Given the description of an element on the screen output the (x, y) to click on. 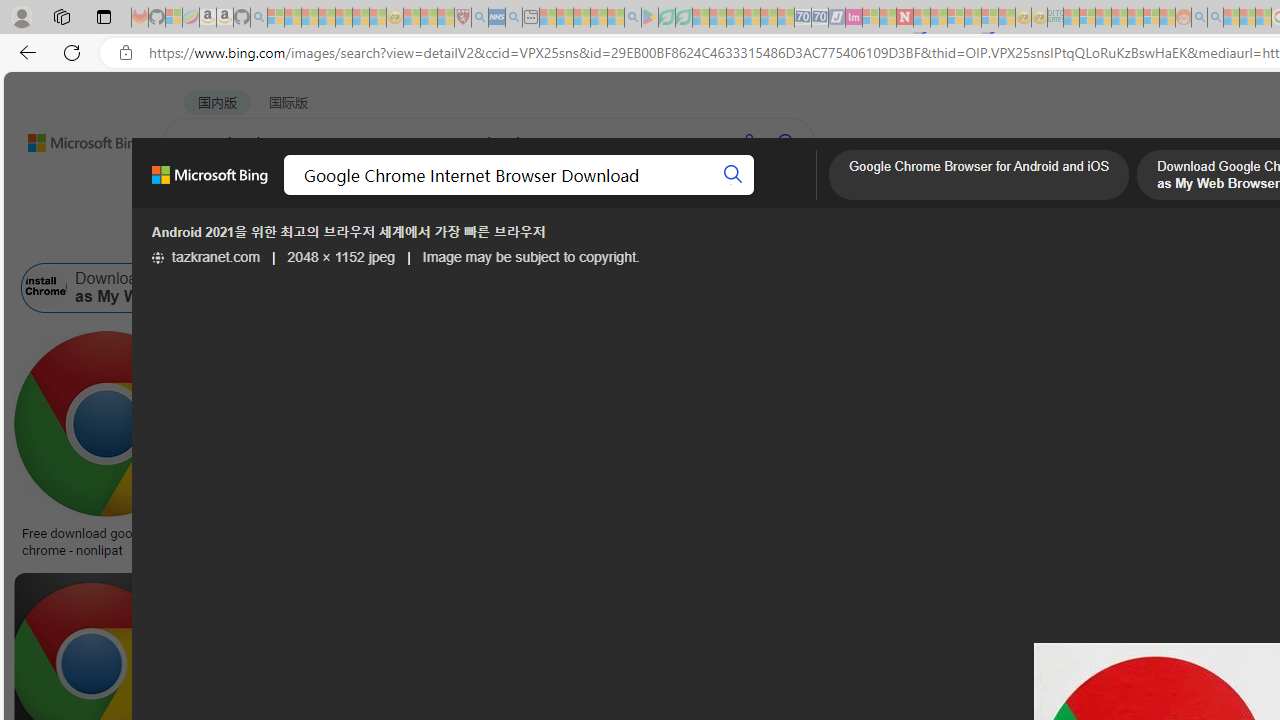
Color (305, 237)
DICT (717, 195)
NCL Adult Asthma Inhaler Choice Guideline - Sleeping (497, 17)
Google Chrome Search Browser (919, 287)
Cheap Car Rentals - Save70.com - Sleeping (802, 17)
VIDEOS (545, 195)
Personal Profile (21, 16)
Search button (732, 174)
WEB (201, 195)
